Given the description of an element on the screen output the (x, y) to click on. 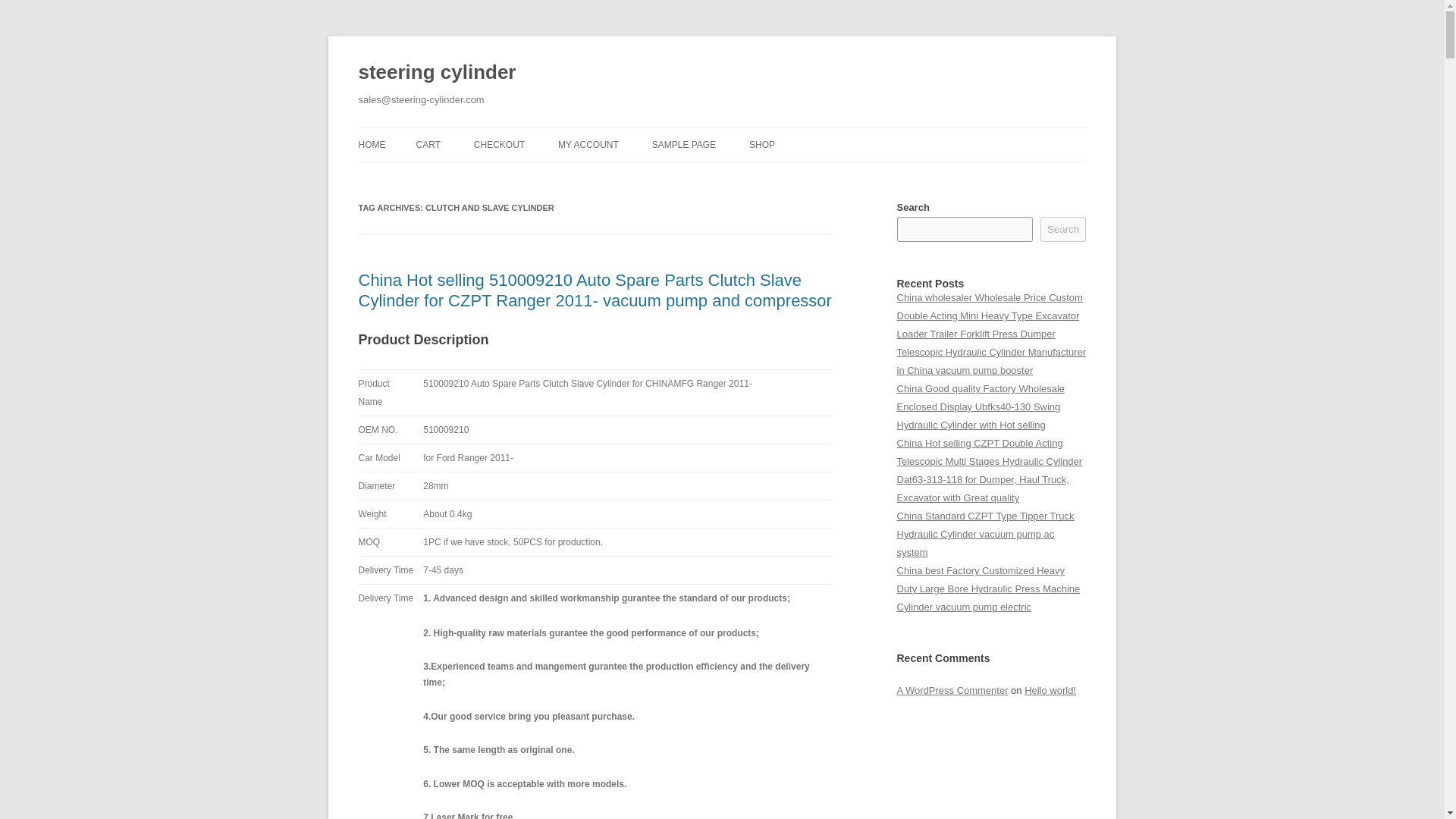
CHECKOUT (499, 144)
MY ACCOUNT (587, 144)
Search (1063, 229)
A WordPress Commenter (951, 690)
steering cylinder (436, 72)
SAMPLE PAGE (684, 144)
